Given the description of an element on the screen output the (x, y) to click on. 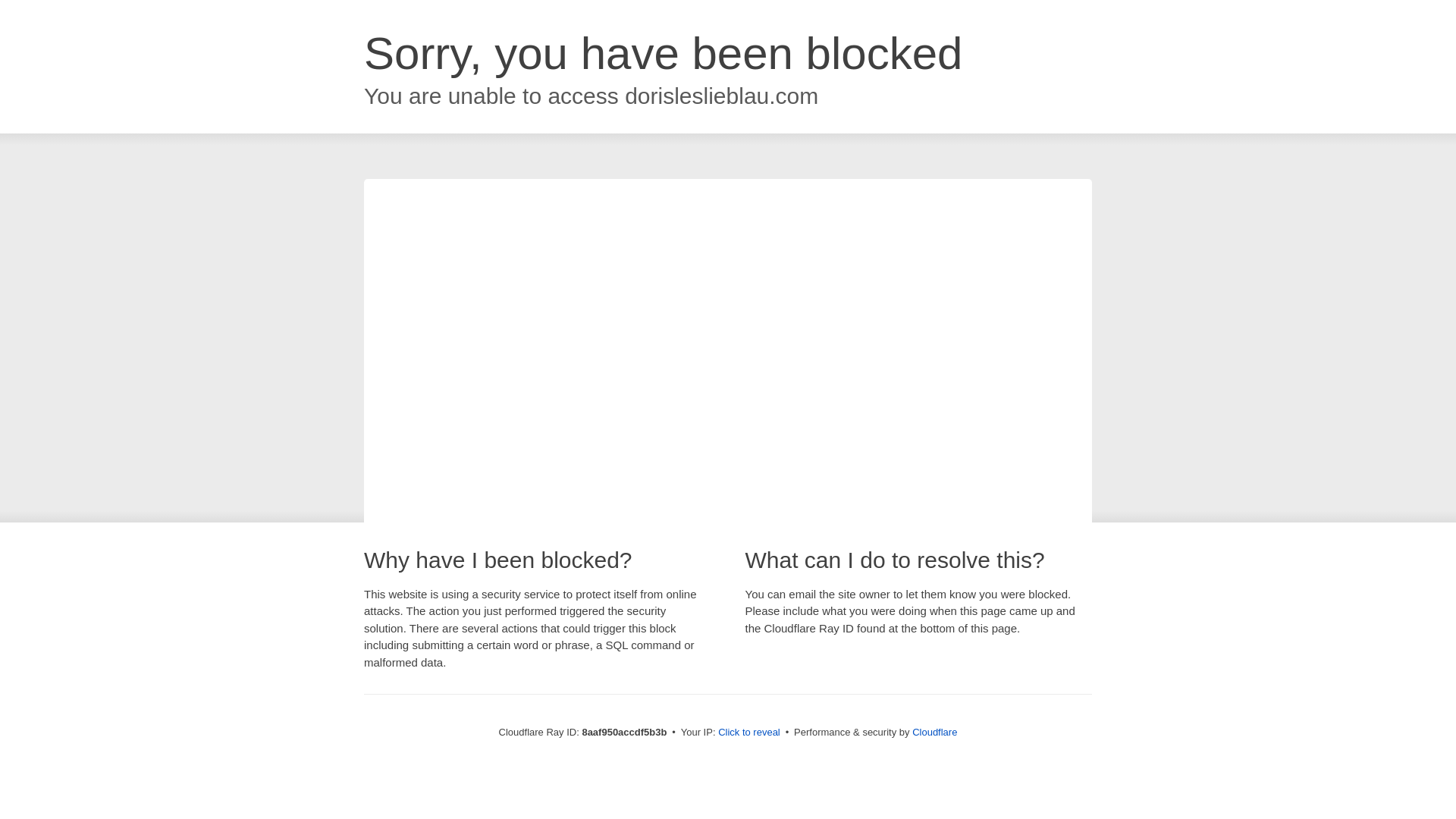
Click to reveal (748, 732)
Cloudflare (934, 731)
